Given the description of an element on the screen output the (x, y) to click on. 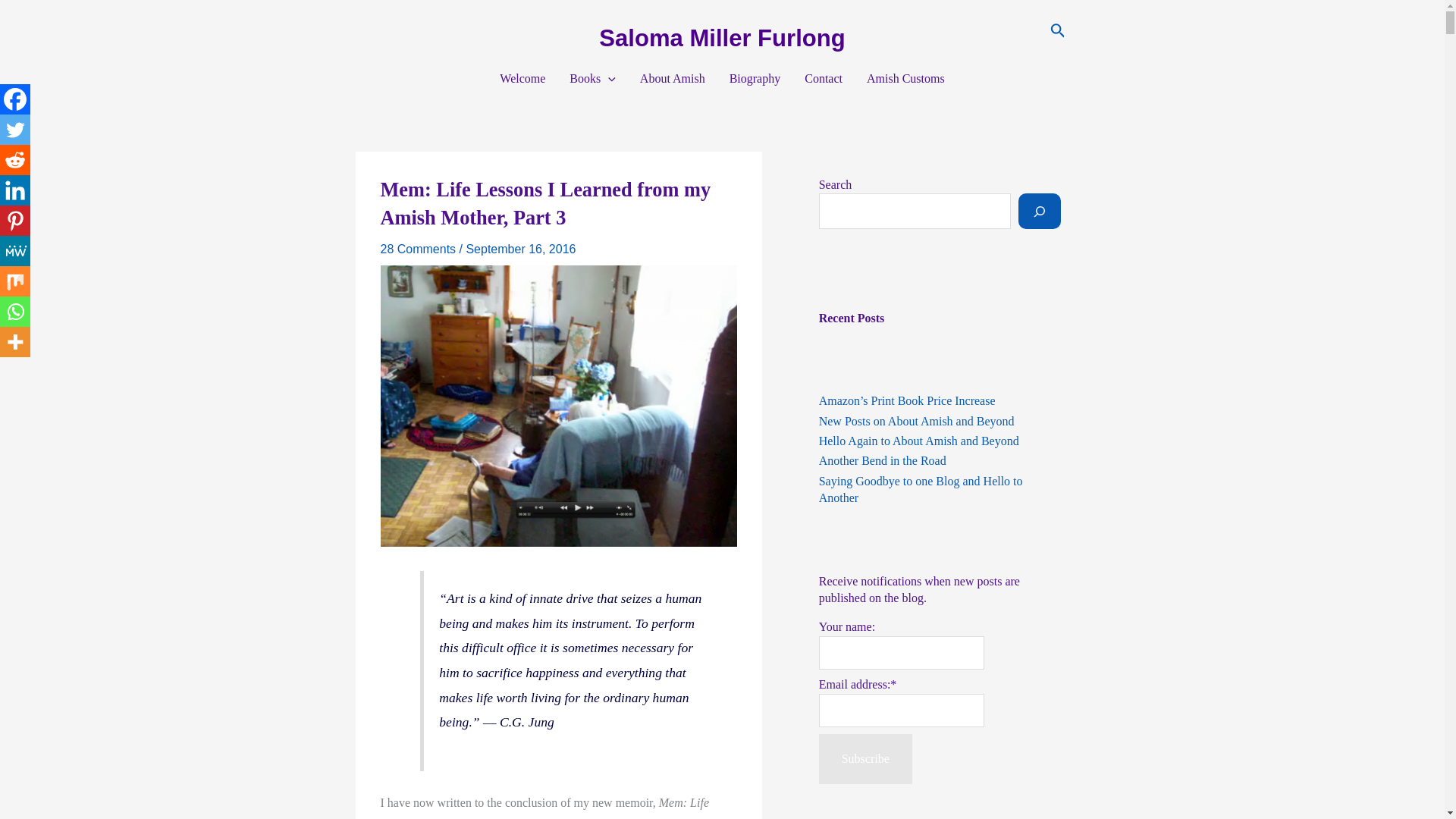
Facebook (15, 99)
About Amish (672, 78)
Reddit (15, 159)
Linkedin (15, 190)
Biography (755, 78)
28 Comments (418, 248)
Twitter (15, 129)
Amish Customs (905, 78)
Subscribe (865, 758)
Contact (823, 78)
